Given the description of an element on the screen output the (x, y) to click on. 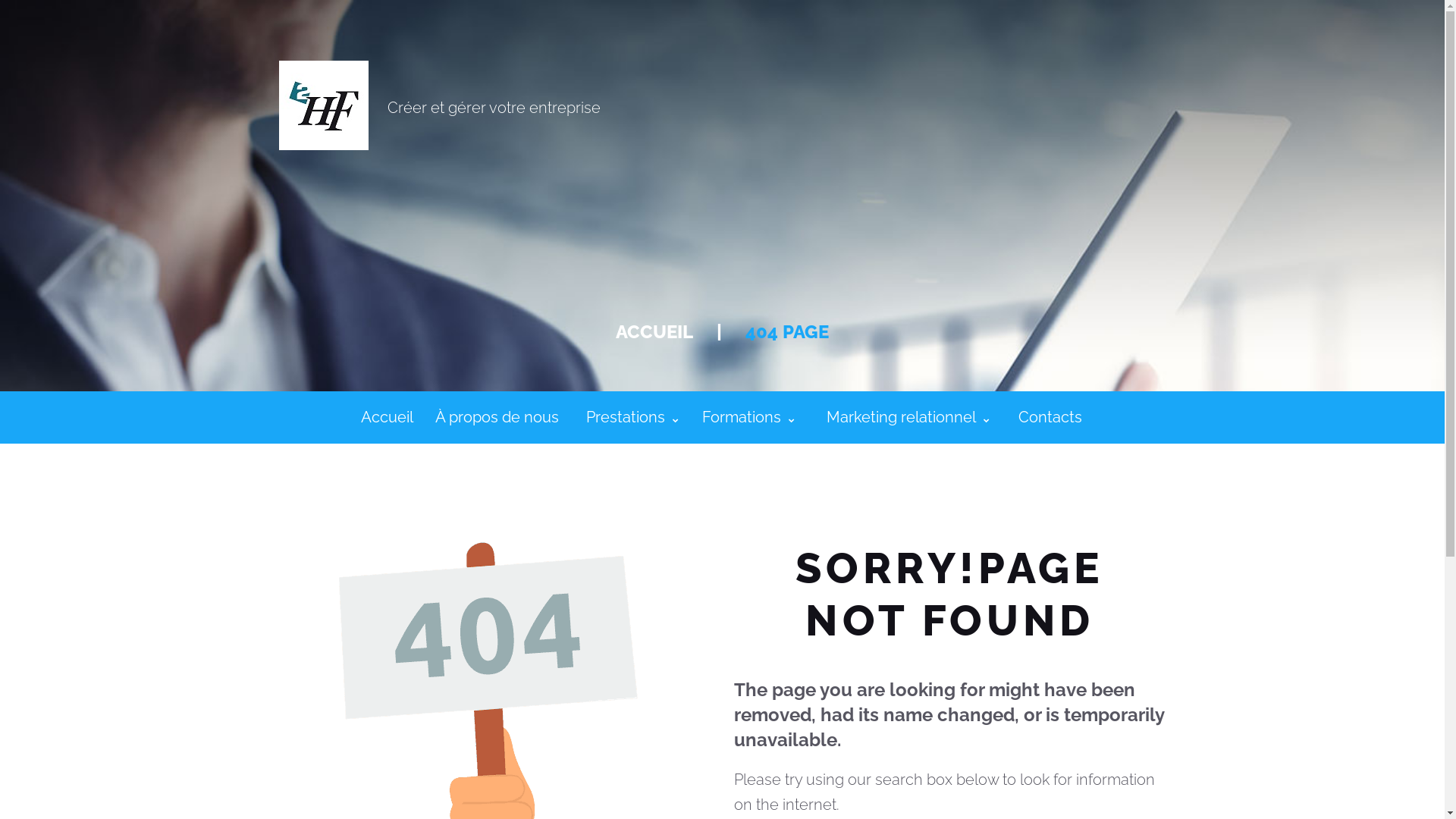
Contacts Element type: text (1049, 417)
ACCUEIL Element type: text (654, 331)
Prestations Element type: text (632, 417)
Accueil Element type: text (387, 417)
Formations Element type: text (748, 417)
Marketing relationnel Element type: text (908, 417)
